Given the description of an element on the screen output the (x, y) to click on. 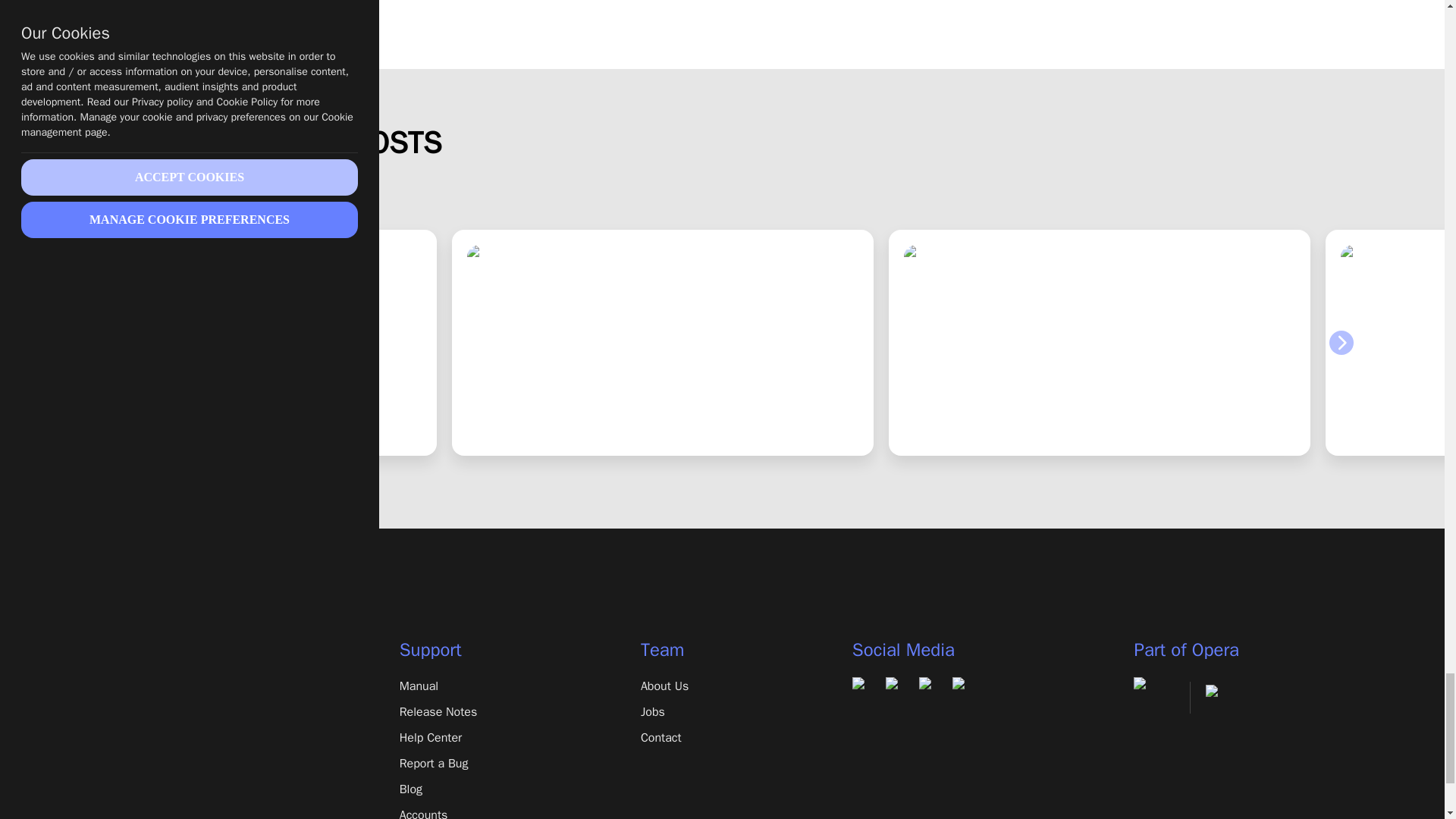
Pricing (187, 737)
Download (187, 686)
Features (187, 711)
Asset Bundles (187, 789)
Marketplace (187, 763)
